Given the description of an element on the screen output the (x, y) to click on. 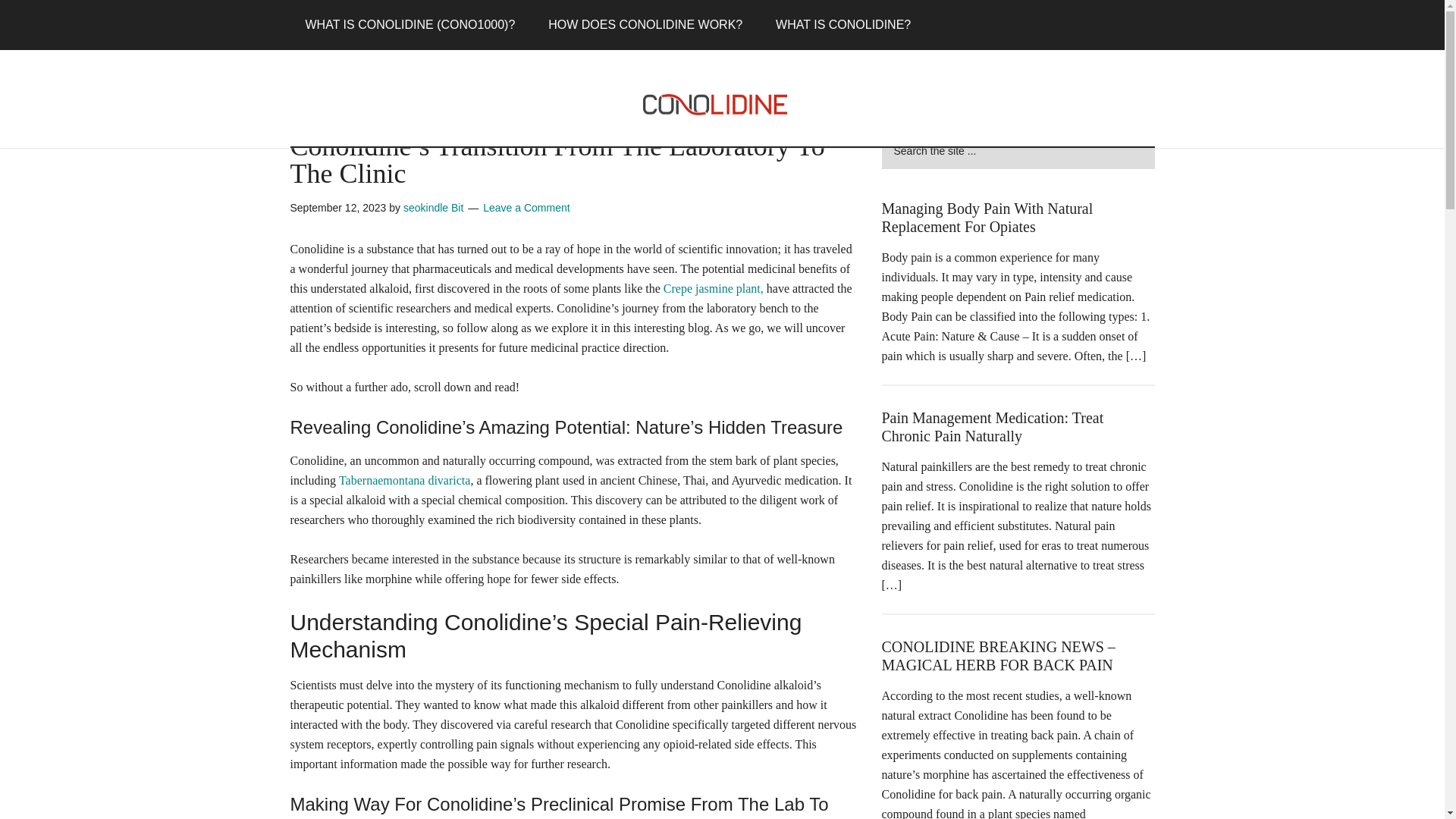
Tabernaemontana divaricta (404, 480)
Click Here (967, 69)
WHAT IS CONOLIDINE? (843, 24)
seokindle Bit (433, 207)
Leave a Comment (526, 207)
HOW DOES CONOLIDINE WORK? (644, 24)
Crepe jasmine plant, (712, 287)
Managing Body Pain With Natural Replacement For Opiates (986, 217)
Pain Management Medication: Treat Chronic Pain Naturally (991, 426)
